Given the description of an element on the screen output the (x, y) to click on. 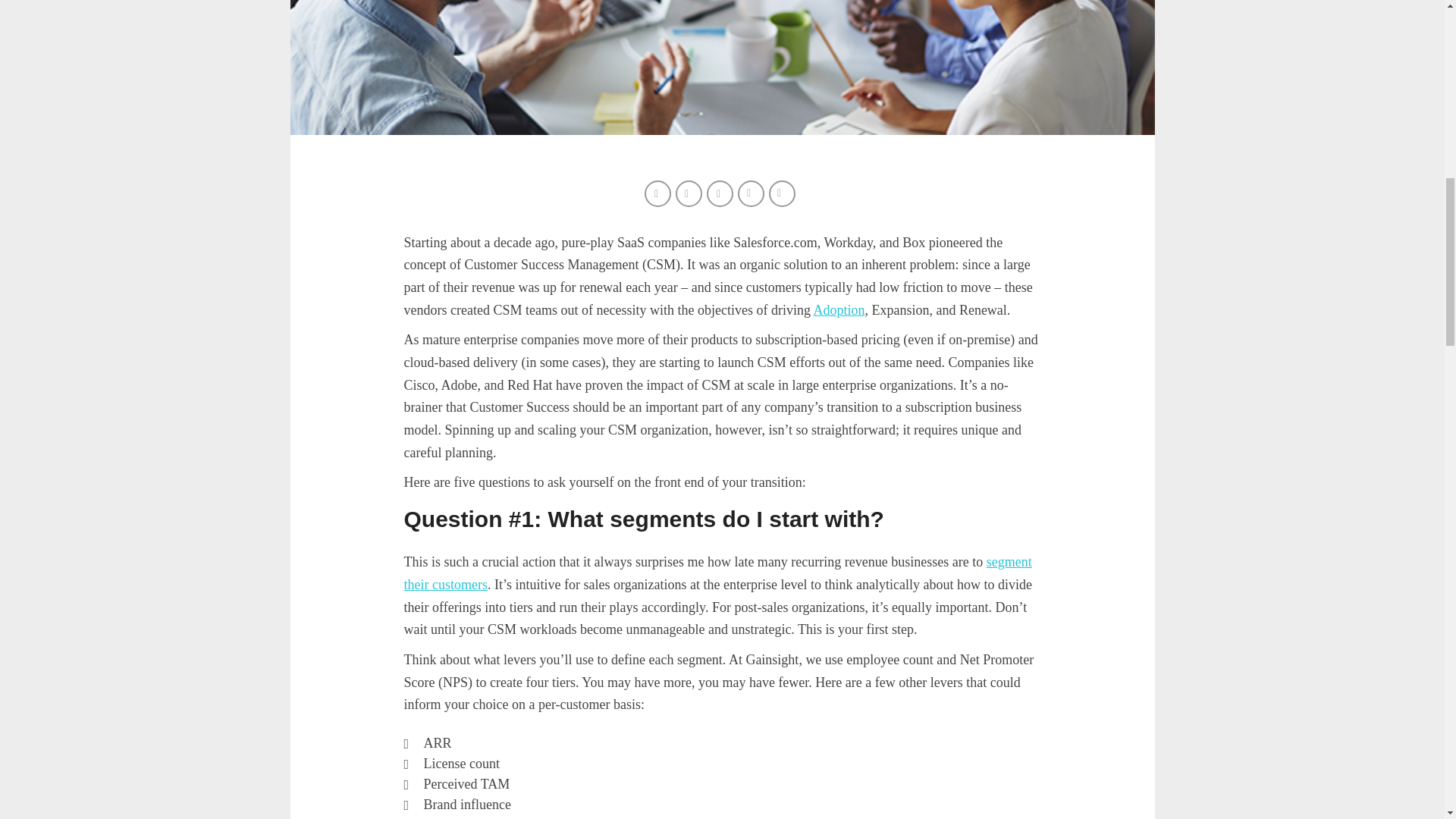
Email (783, 194)
Adoption (838, 309)
Share on Google Plus (721, 194)
Share on Facebook (659, 194)
Pin this (752, 194)
segment their customers (716, 573)
Share on Twitter (690, 194)
